Given the description of an element on the screen output the (x, y) to click on. 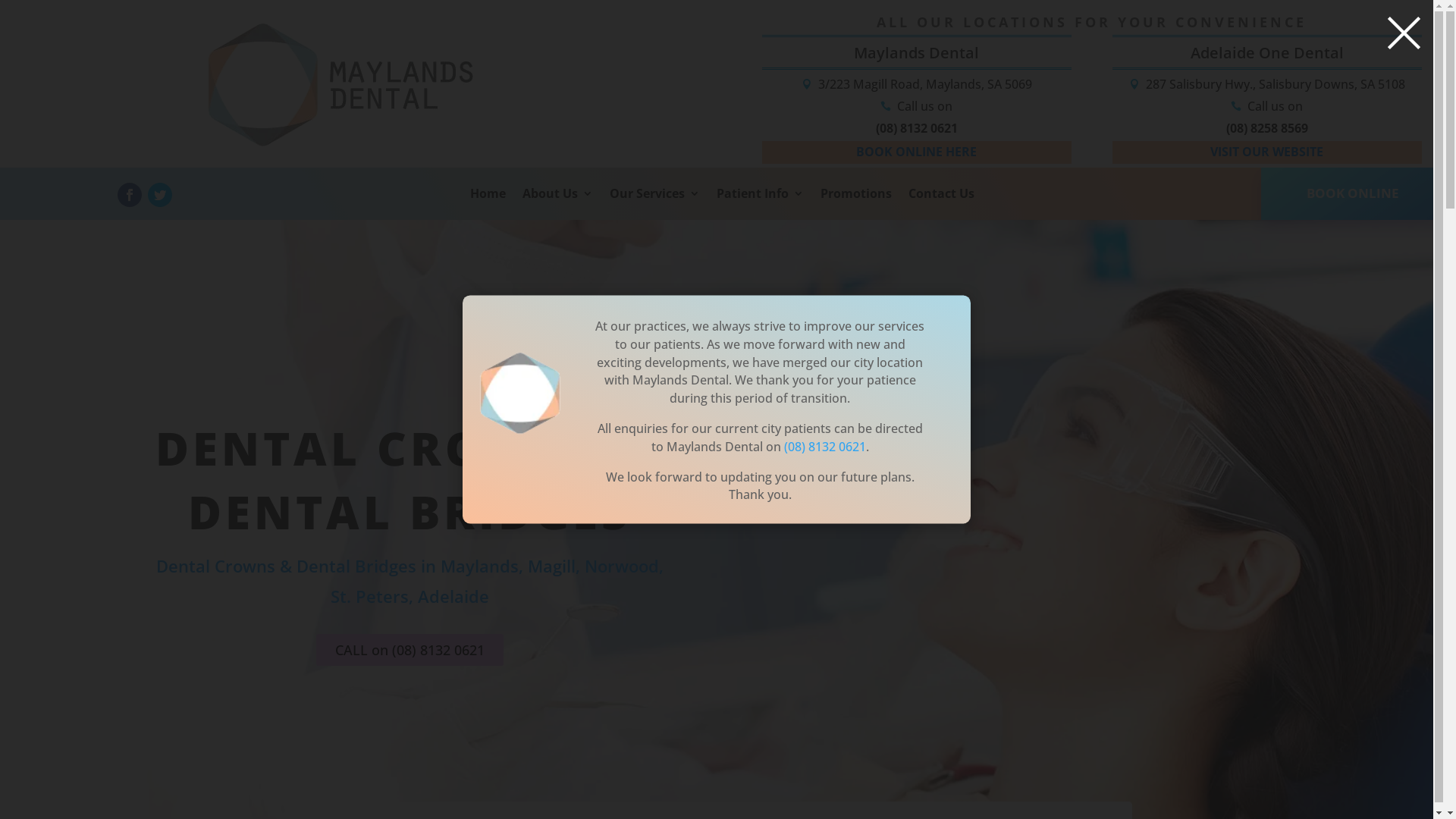
Follow on Twitter Element type: hover (159, 194)
(08) 8132 0621 Element type: text (825, 446)
Patient Info Element type: text (759, 203)
BOOK ONLINE Element type: text (1352, 193)
Contact Us Element type: text (941, 203)
BOOK ONLINE HERE Element type: text (916, 151)
Follow on Facebook Element type: hover (128, 194)
Promotions Element type: text (855, 203)
About Us Element type: text (557, 203)
CALL on (08) 8132 0621 Element type: text (408, 649)
Our Services Element type: text (654, 203)
Home Element type: text (487, 203)
